Given the description of an element on the screen output the (x, y) to click on. 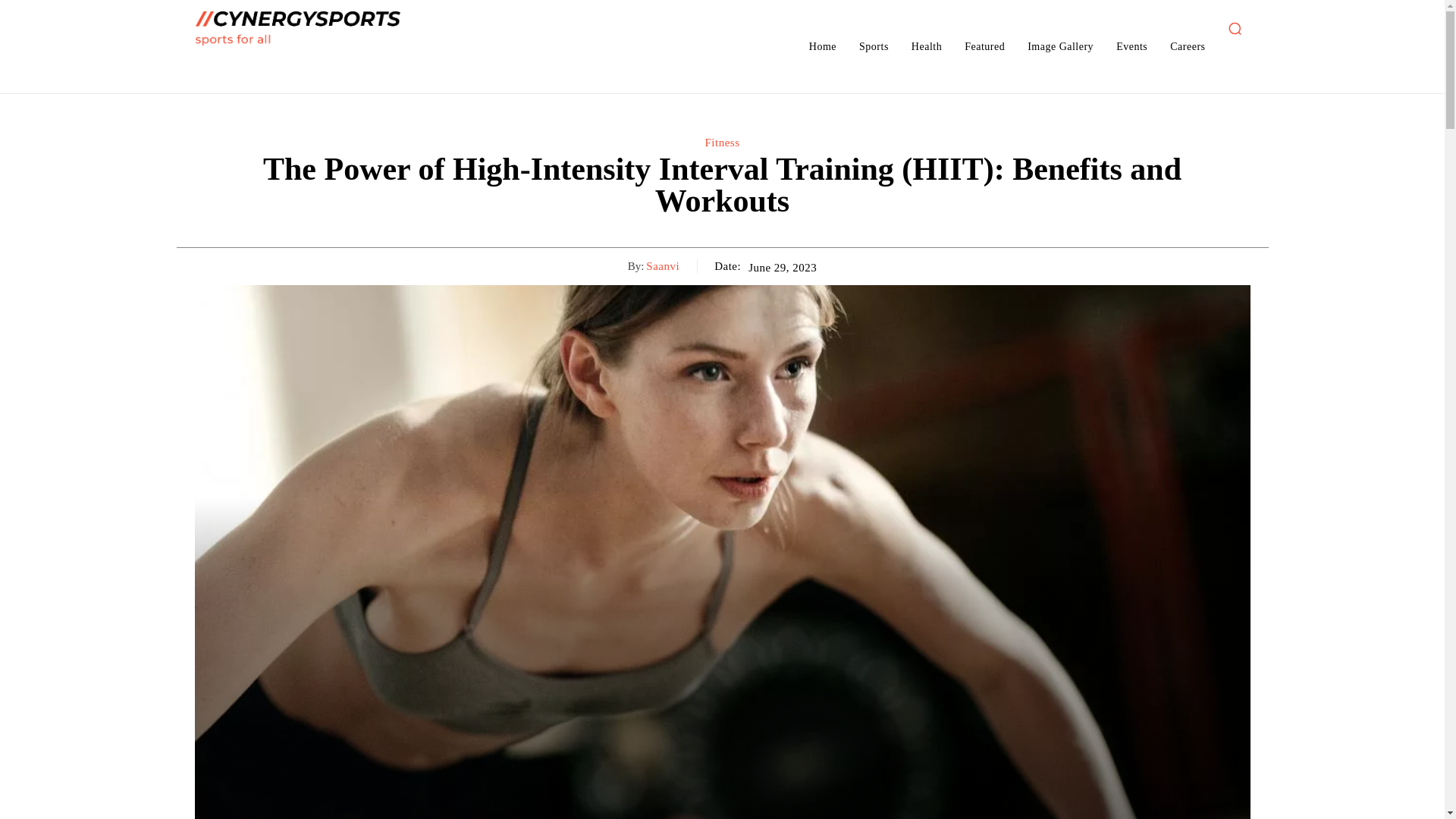
Featured (983, 46)
Image Gallery (1060, 46)
